Given the description of an element on the screen output the (x, y) to click on. 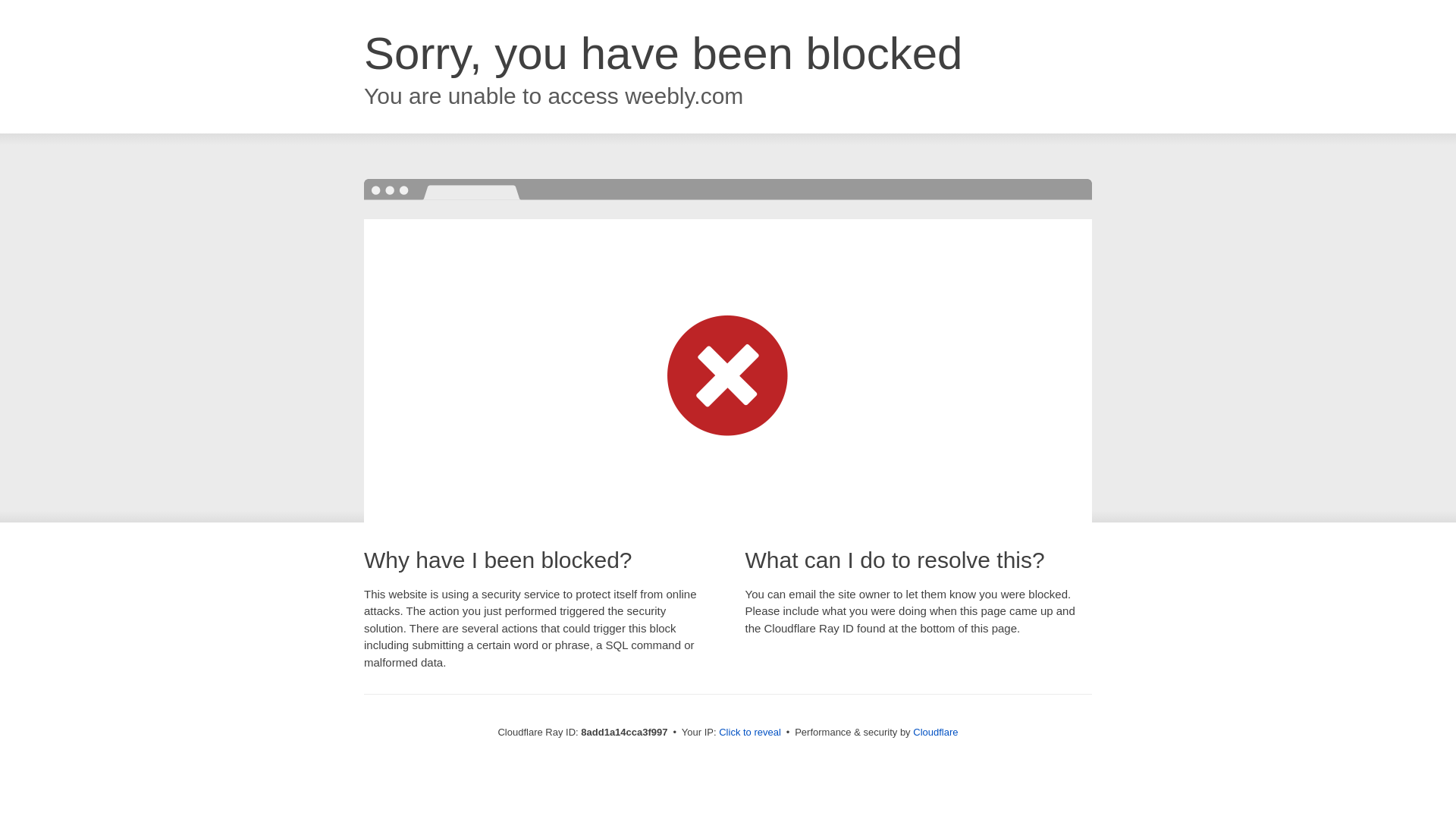
Cloudflare (935, 731)
Click to reveal (749, 732)
